Given the description of an element on the screen output the (x, y) to click on. 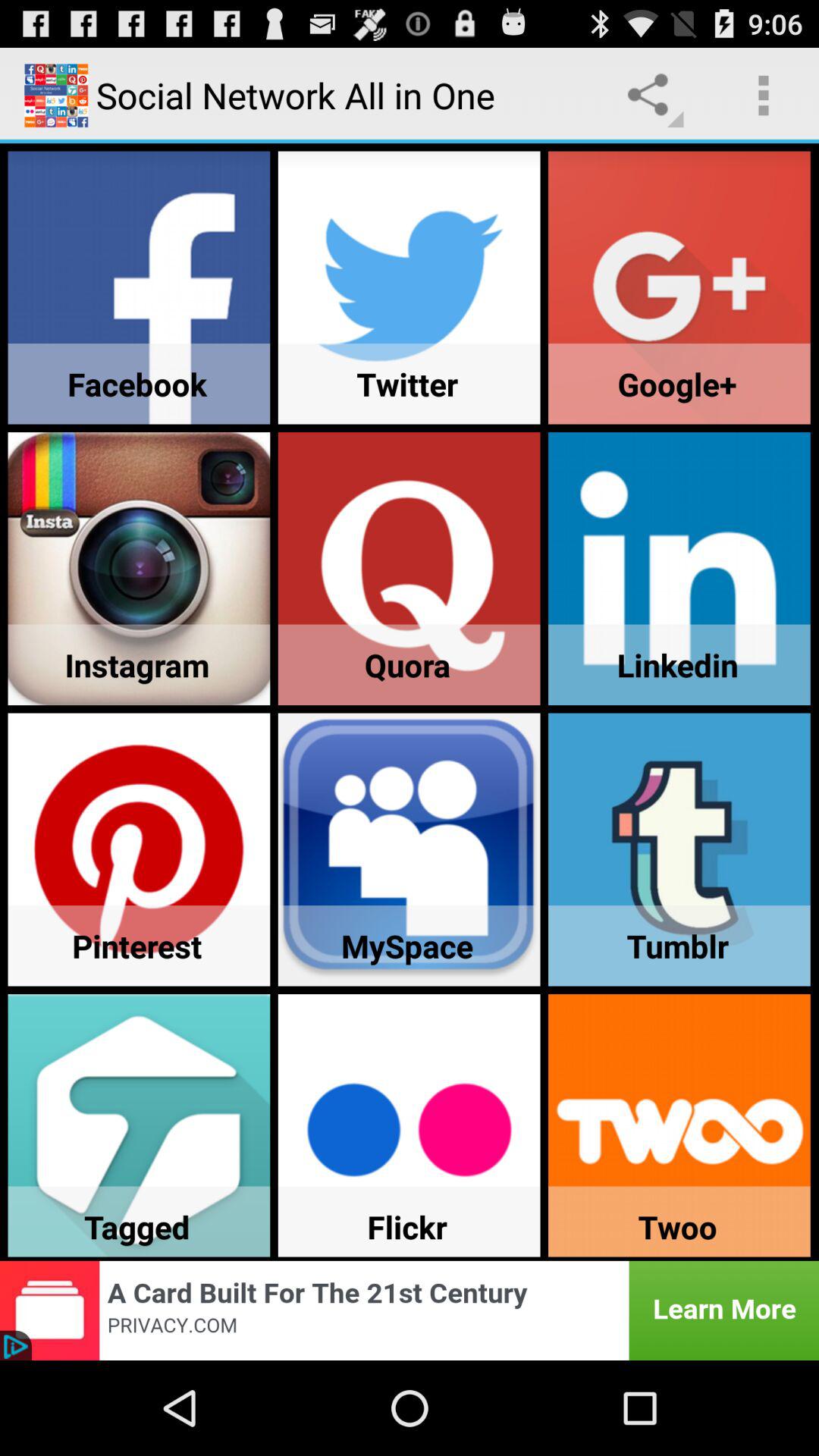
advertisement (409, 1310)
